Given the description of an element on the screen output the (x, y) to click on. 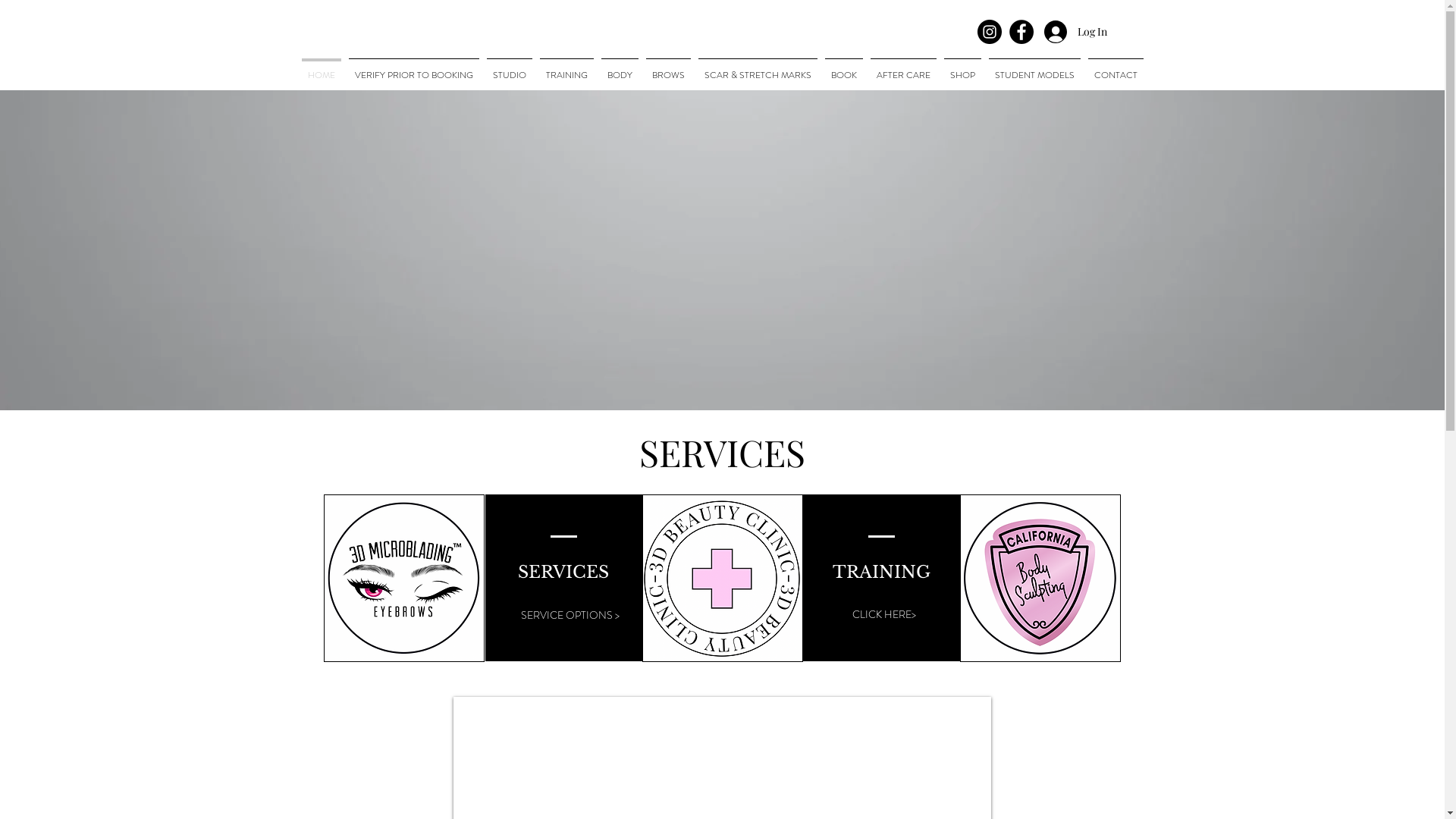
STUDIO Element type: text (508, 68)
HOME Element type: text (320, 68)
TRAINING Element type: text (565, 68)
Log In Element type: text (1062, 31)
SHOP Element type: text (962, 68)
STUDENT MODELS Element type: text (1033, 68)
BROWS Element type: text (667, 68)
VERIFY PRIOR TO BOOKING Element type: text (413, 68)
CLICK HERE> Element type: text (884, 614)
SERVICE OPTIONS > Element type: text (569, 615)
BOOK Element type: text (843, 68)
CONTACT Element type: text (1115, 68)
AFTER CARE Element type: text (902, 68)
SCAR & STRETCH MARKS Element type: text (757, 68)
BODY Element type: text (619, 68)
